Given the description of an element on the screen output the (x, y) to click on. 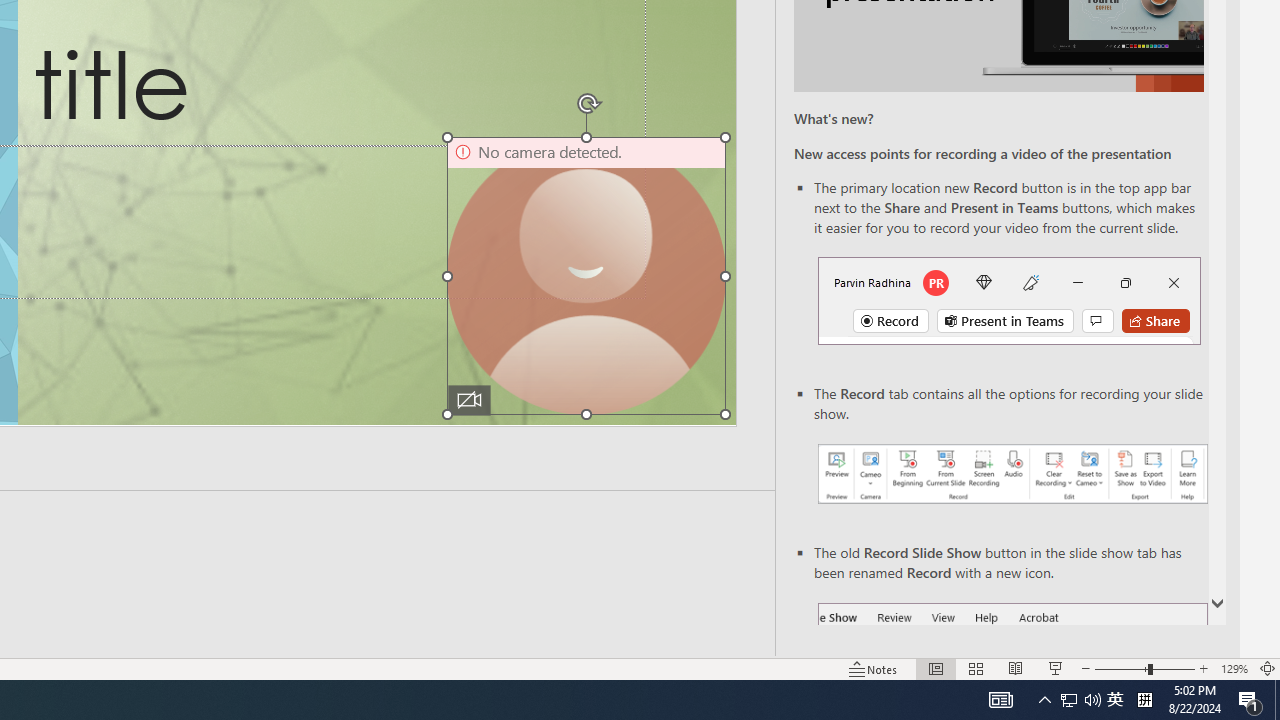
Record button in top bar (1008, 300)
Zoom 129% (1234, 668)
Record your presentations screenshot one (1012, 473)
Camera 9, No camera detected. (586, 275)
